Given the description of an element on the screen output the (x, y) to click on. 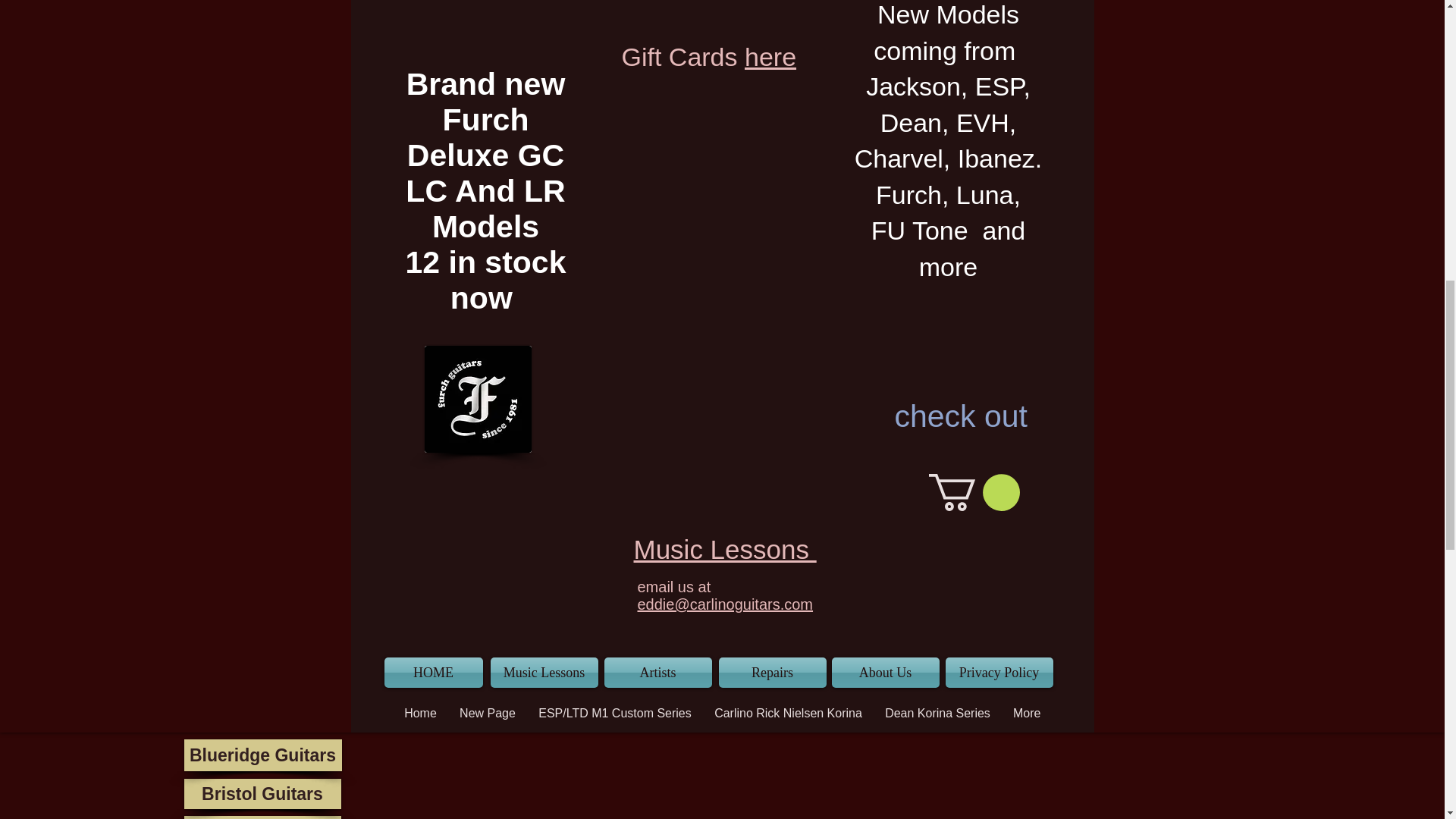
Carlino Rick Nielsen Korina (788, 713)
Repairs (773, 672)
HOME (432, 672)
Home (420, 713)
Dean Korina Series (937, 713)
Artists (657, 672)
Music Lessons (542, 672)
Music Lessons  (724, 549)
New Page (487, 713)
About Us (885, 672)
here (770, 56)
Privacy Policy (998, 672)
